Given the description of an element on the screen output the (x, y) to click on. 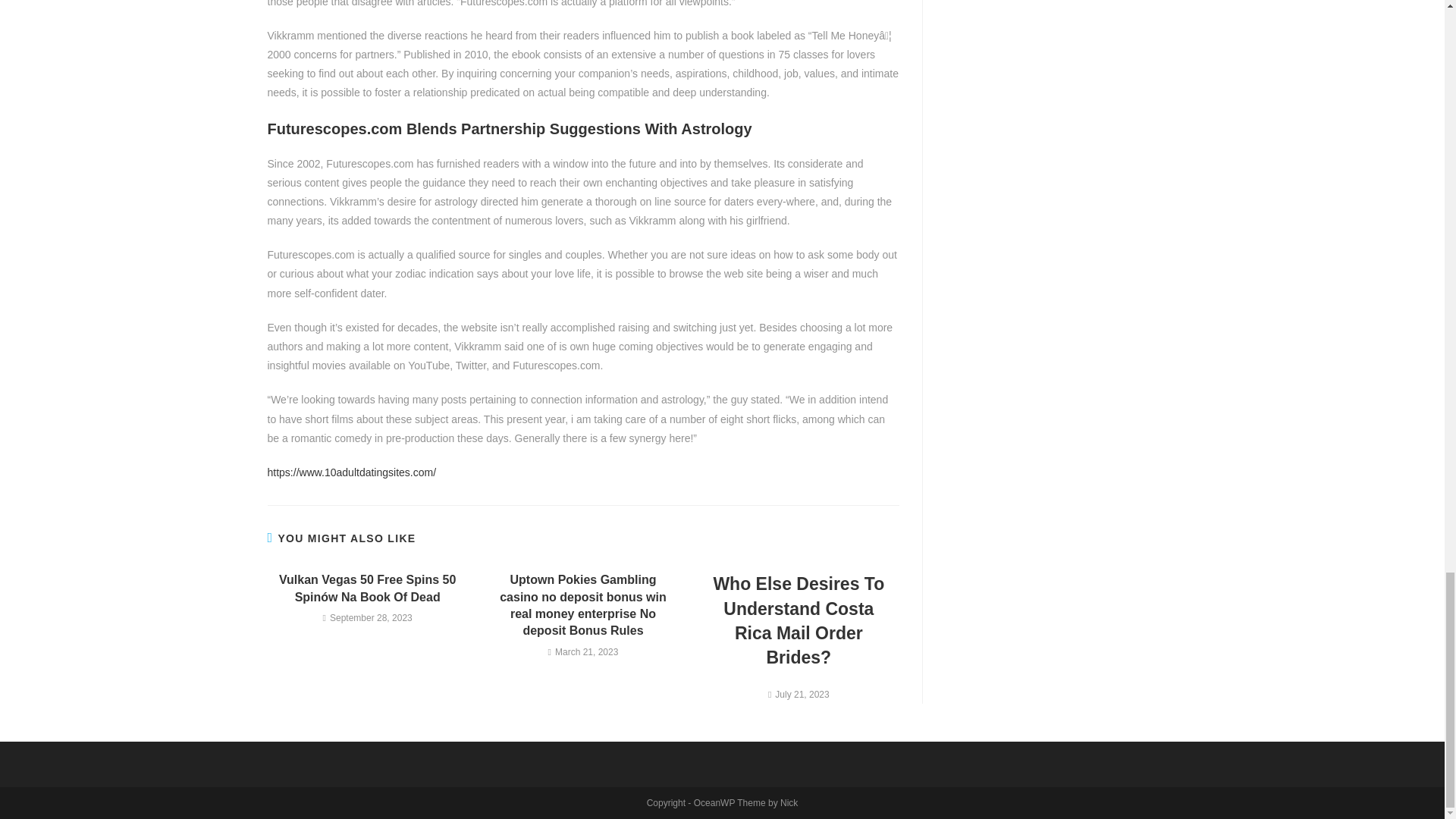
Who Else Desires To Understand Costa Rica Mail Order Brides? (798, 620)
Who Else Desires To Understand Costa Rica Mail Order Brides? (798, 620)
